Given the description of an element on the screen output the (x, y) to click on. 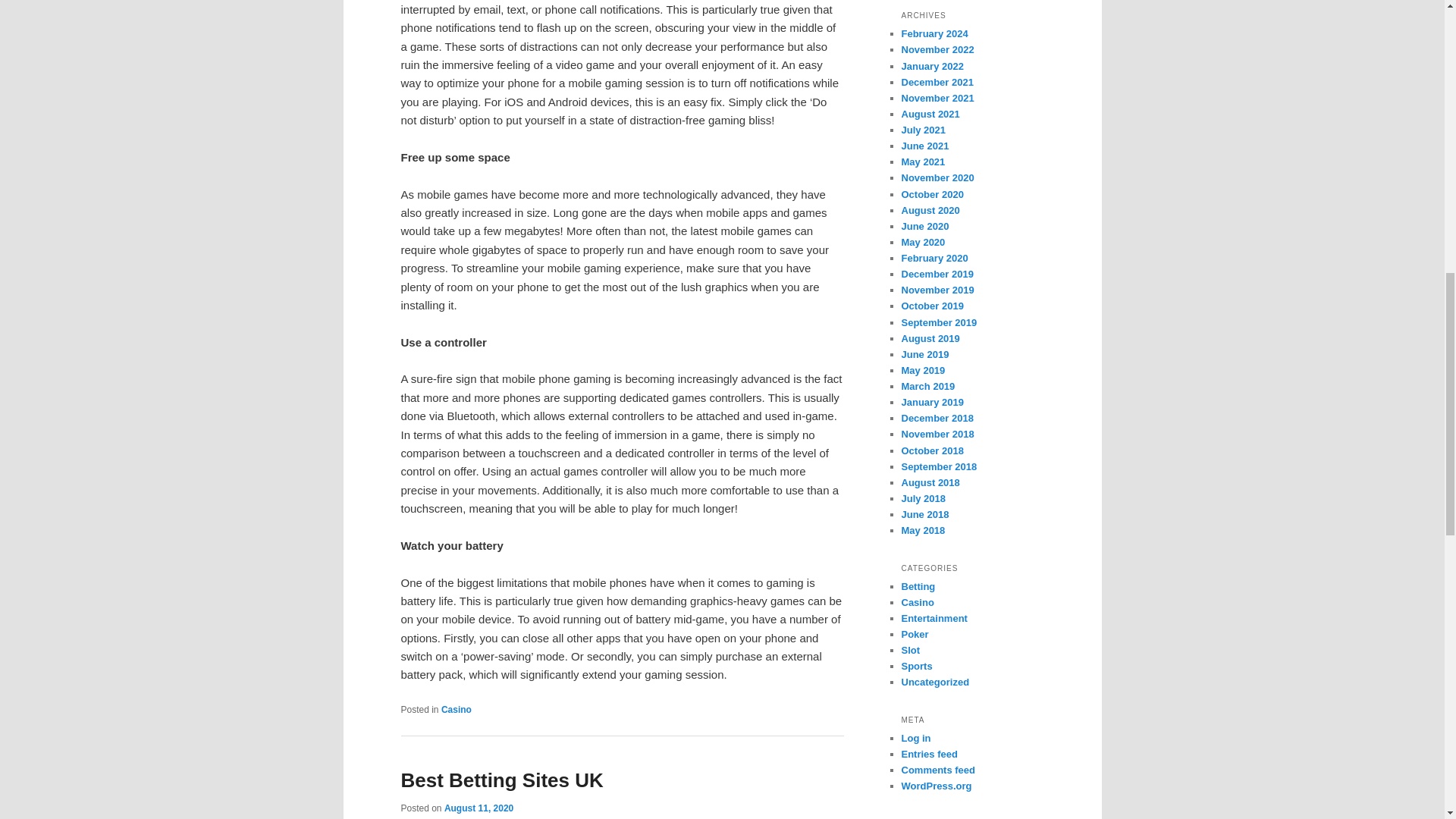
December 2021 (936, 81)
July 2021 (922, 129)
June 2021 (925, 145)
May 2021 (922, 161)
August 2021 (930, 113)
August 11, 2020 (478, 808)
February 2024 (934, 33)
November 2021 (937, 98)
January 2022 (931, 66)
Casino (456, 709)
Best Betting Sites UK (501, 780)
November 2022 (937, 49)
10:47 am (478, 808)
November 2020 (937, 177)
